Given the description of an element on the screen output the (x, y) to click on. 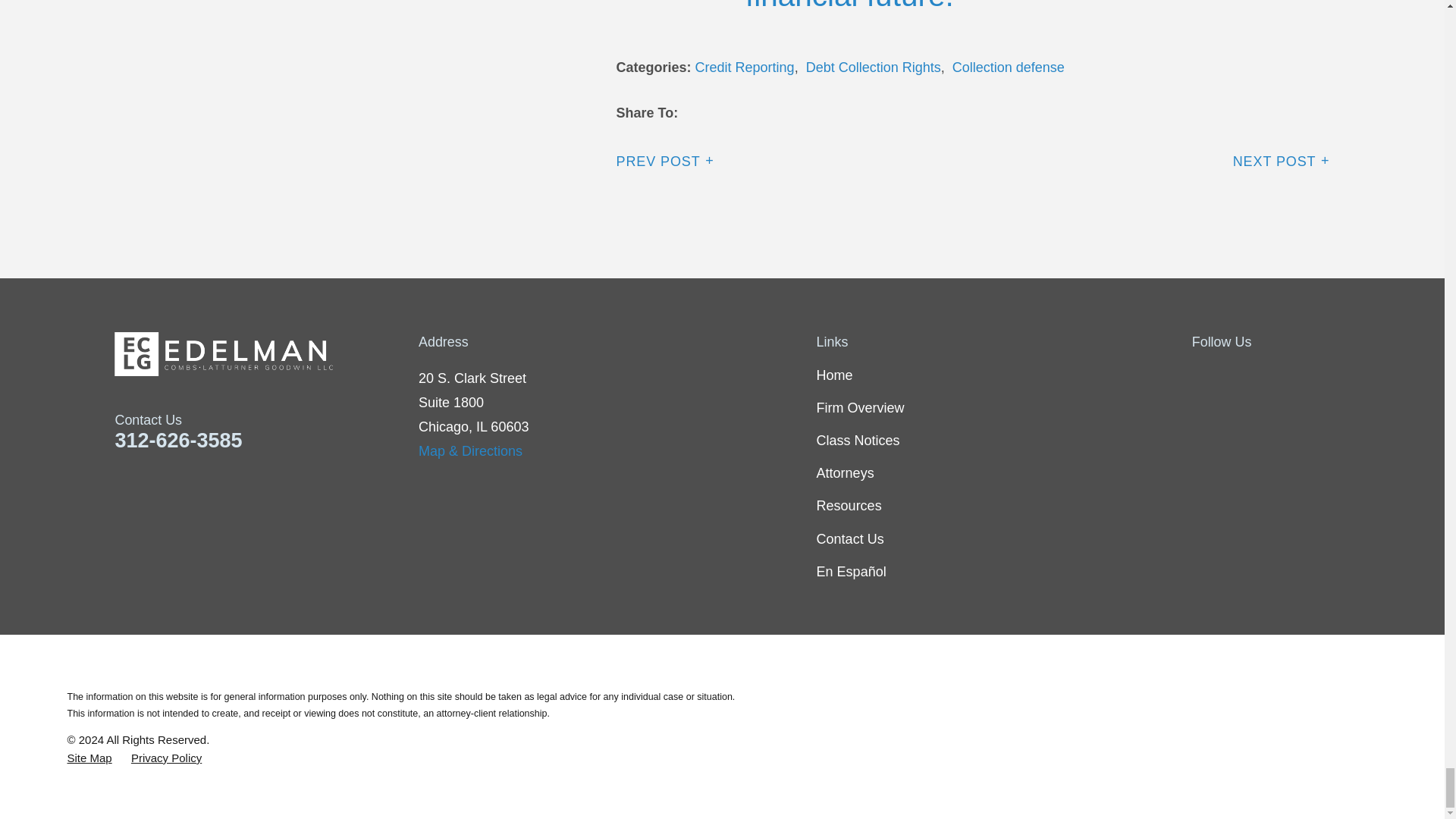
Facebook (1201, 375)
Home (267, 353)
Twitter (1240, 375)
Yelp (1280, 375)
Google Business Profile (1319, 375)
